Given the description of an element on the screen output the (x, y) to click on. 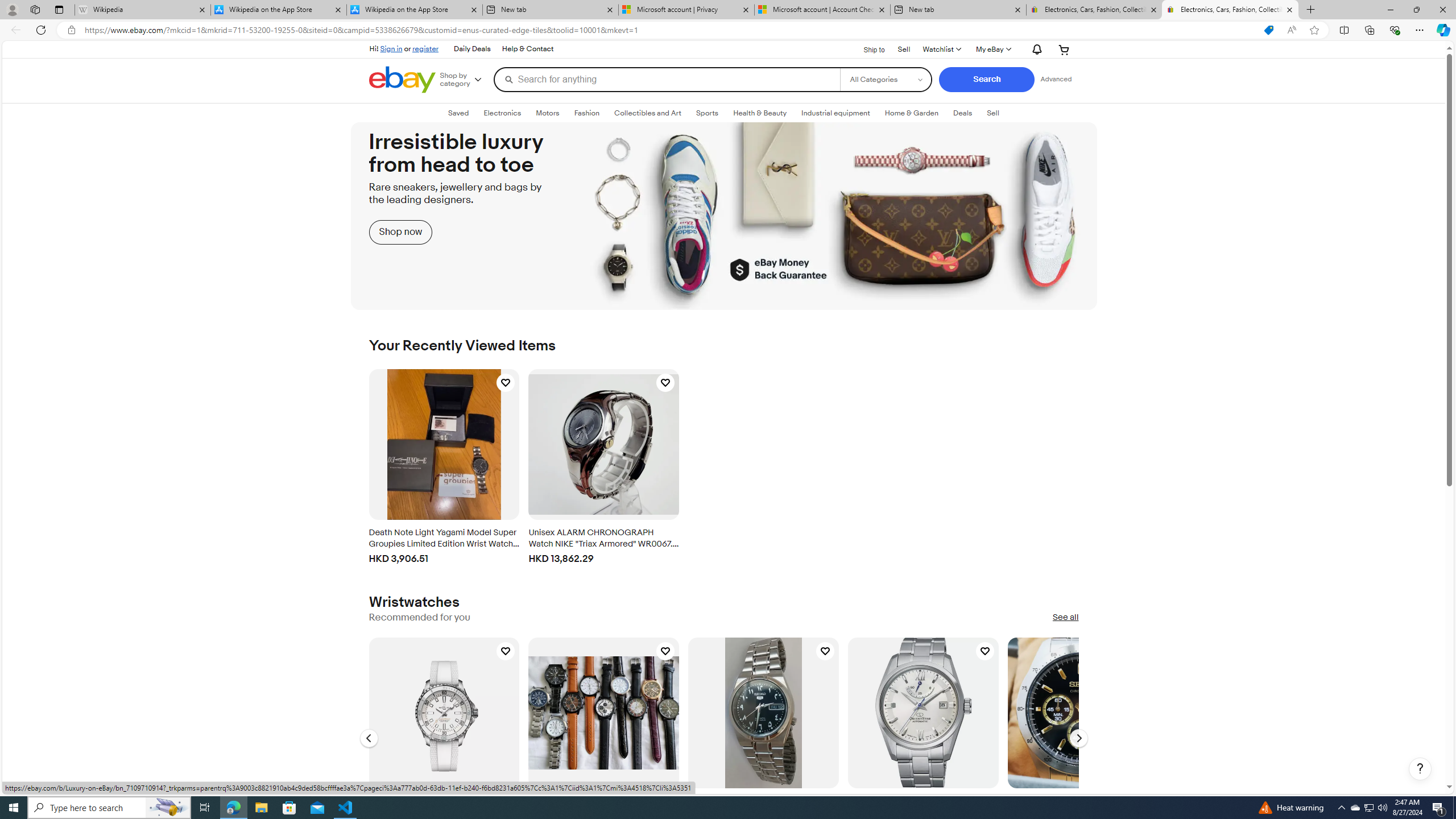
NEW Seiko 5 Men's Automatic Watch with Arabic Dial New (763, 712)
Select a category for search (885, 78)
SellExpand: Sell (992, 112)
Industrial equipment (835, 112)
Collectibles and ArtExpand: Collectibles and Art (647, 112)
Daily Deals (471, 49)
Saved (458, 112)
Saved (458, 112)
